Given the description of an element on the screen output the (x, y) to click on. 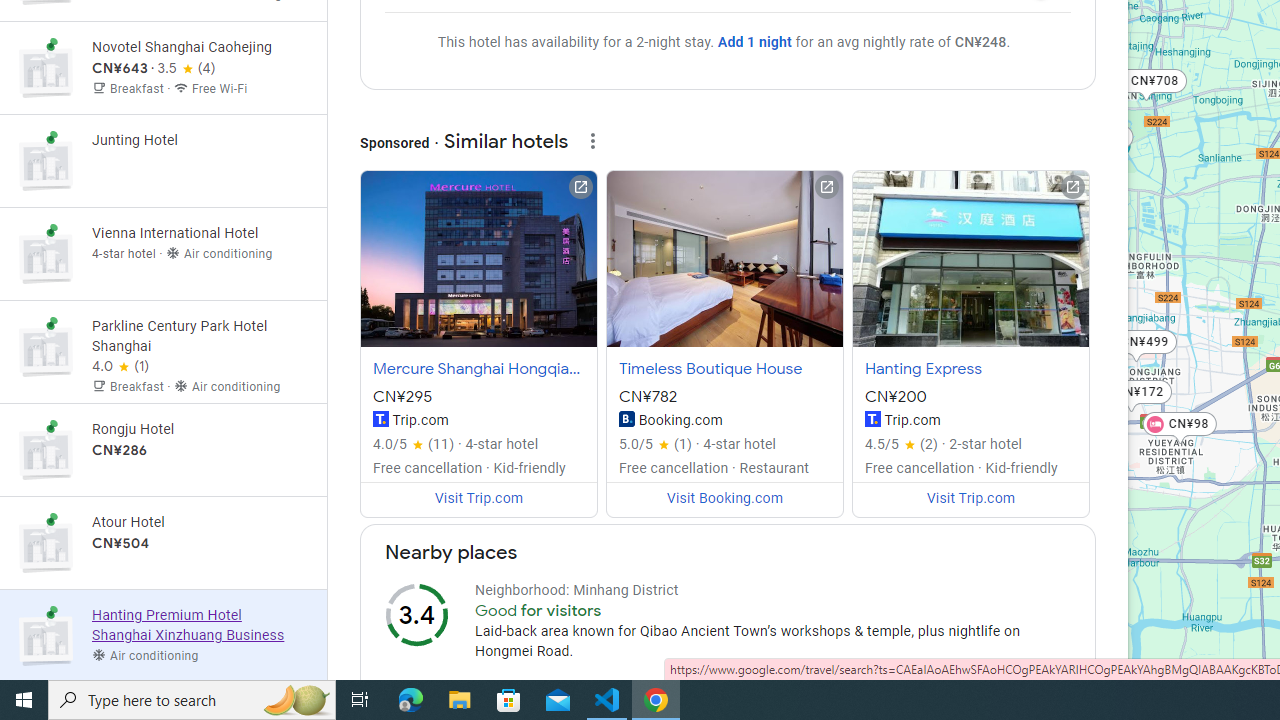
4 out of 5 stars from 11 reviews (413, 444)
4 out of 5 stars from 1 reviews (120, 367)
